Given the description of an element on the screen output the (x, y) to click on. 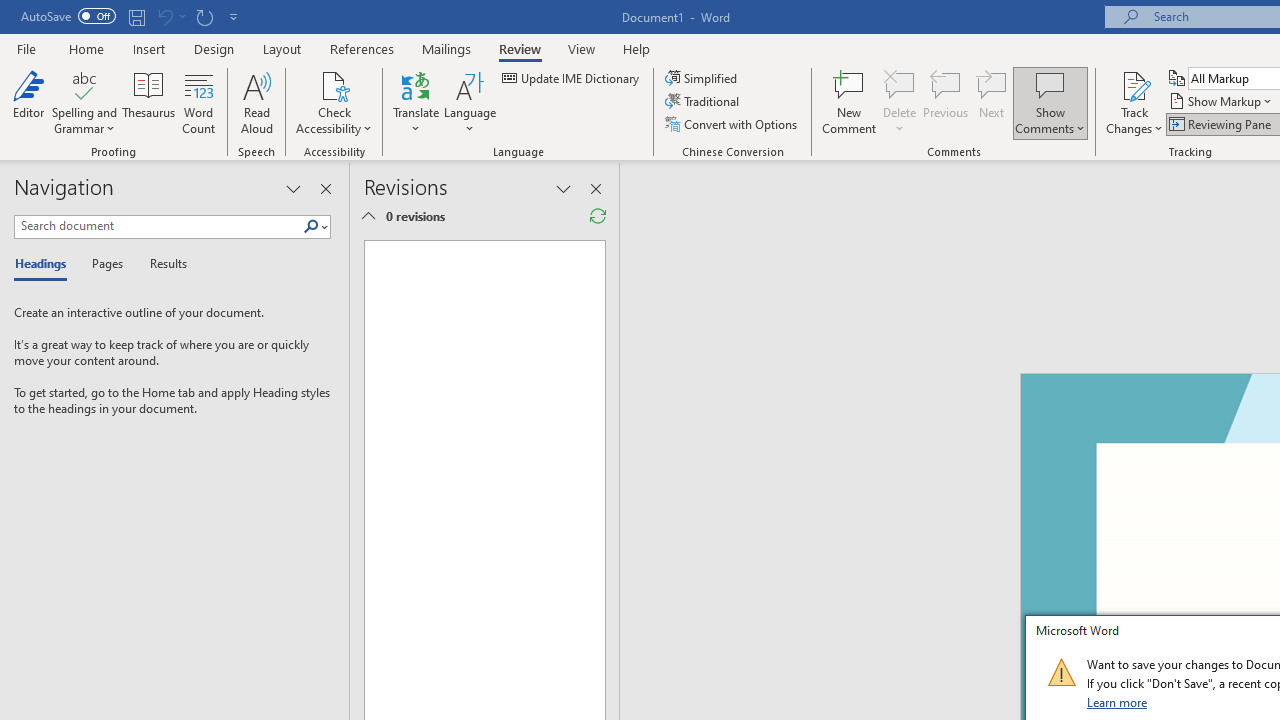
Layout (282, 48)
Spelling and Grammar (84, 102)
Home (86, 48)
Design (214, 48)
Mailings (447, 48)
Class: NetUIImage (1061, 671)
More Options (1134, 121)
New Comment (849, 102)
Can't Undo (170, 15)
Language (470, 102)
Simplified (702, 78)
System (10, 11)
System (10, 11)
Pages (105, 264)
Help (637, 48)
